Given the description of an element on the screen output the (x, y) to click on. 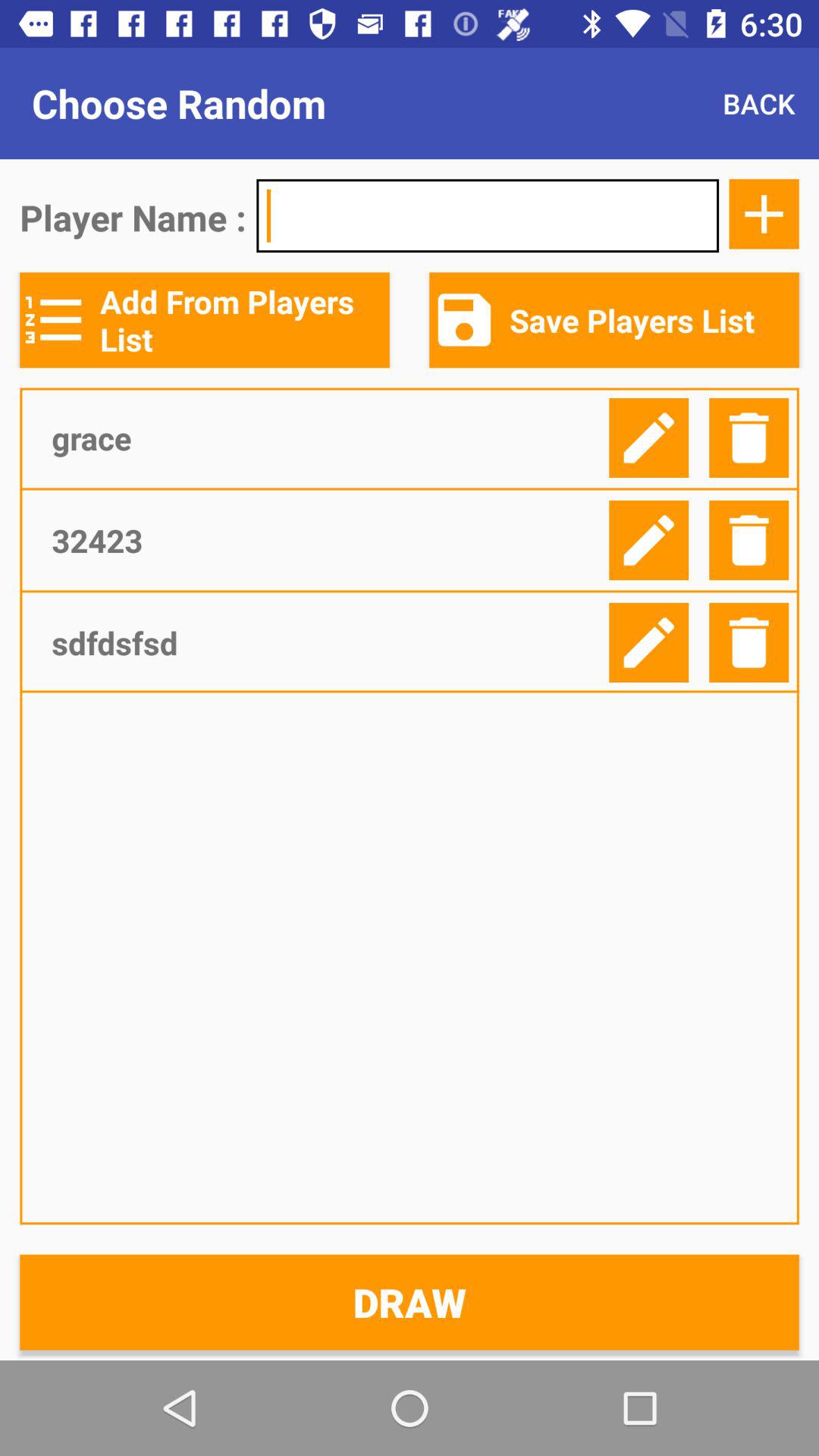
delete button (748, 642)
